Given the description of an element on the screen output the (x, y) to click on. 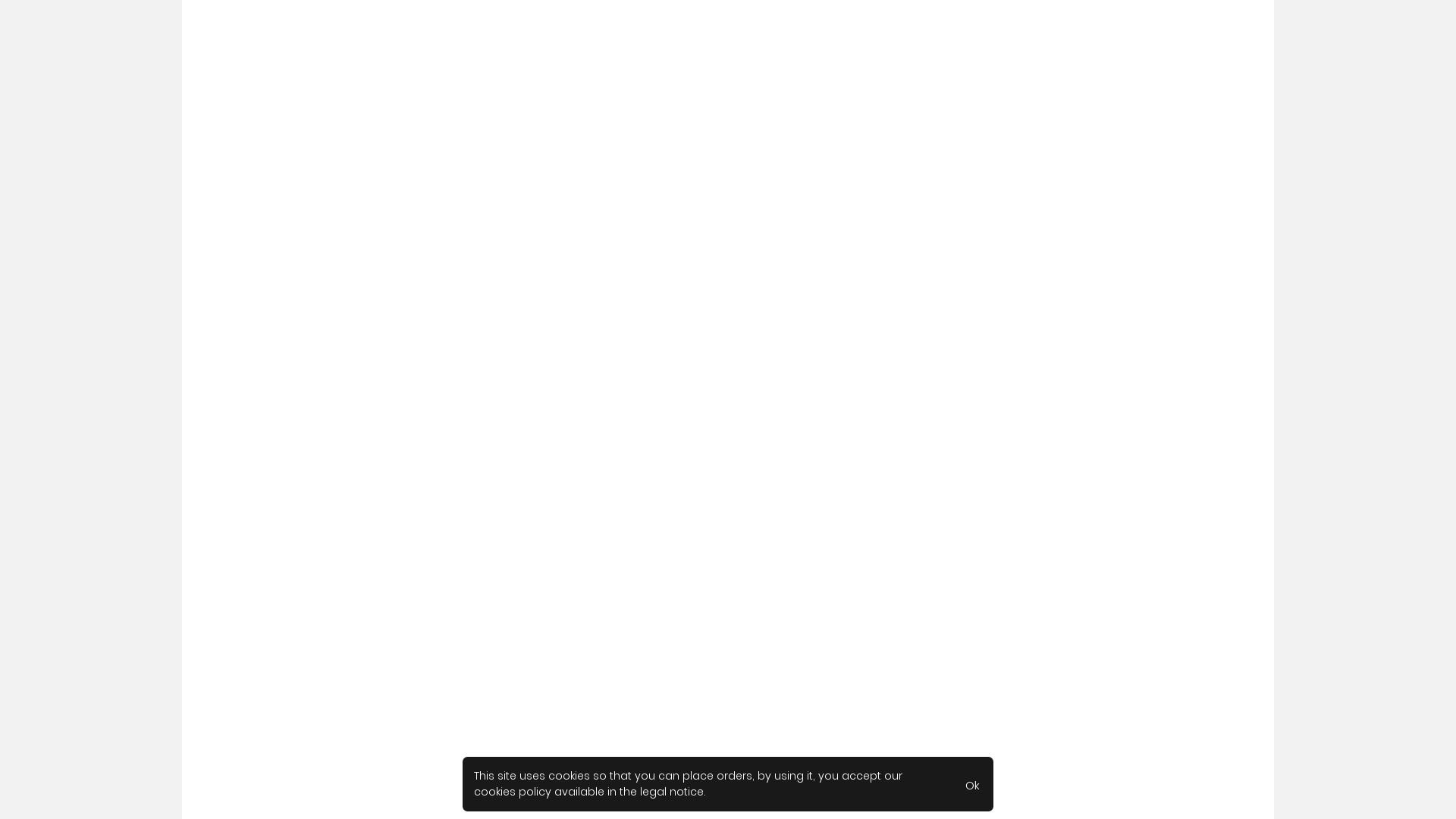
Ok Element type: text (972, 784)
